Given the description of an element on the screen output the (x, y) to click on. 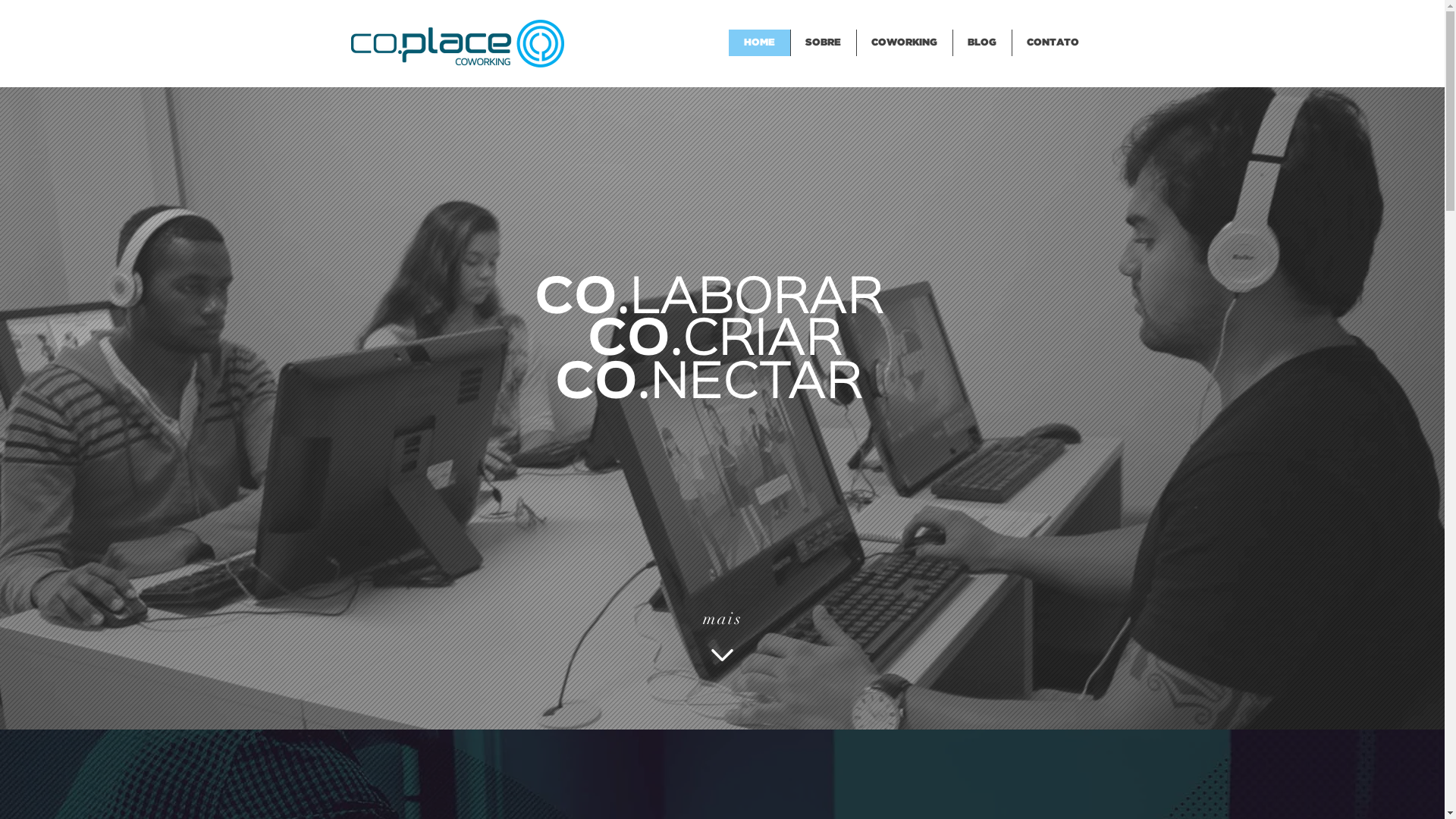
HOME Element type: text (758, 42)
marca.png Element type: hover (456, 42)
COWORKING Element type: text (903, 42)
BLOG Element type: text (981, 42)
SOBRE Element type: text (823, 42)
CONTATO Element type: text (1052, 42)
